Given the description of an element on the screen output the (x, y) to click on. 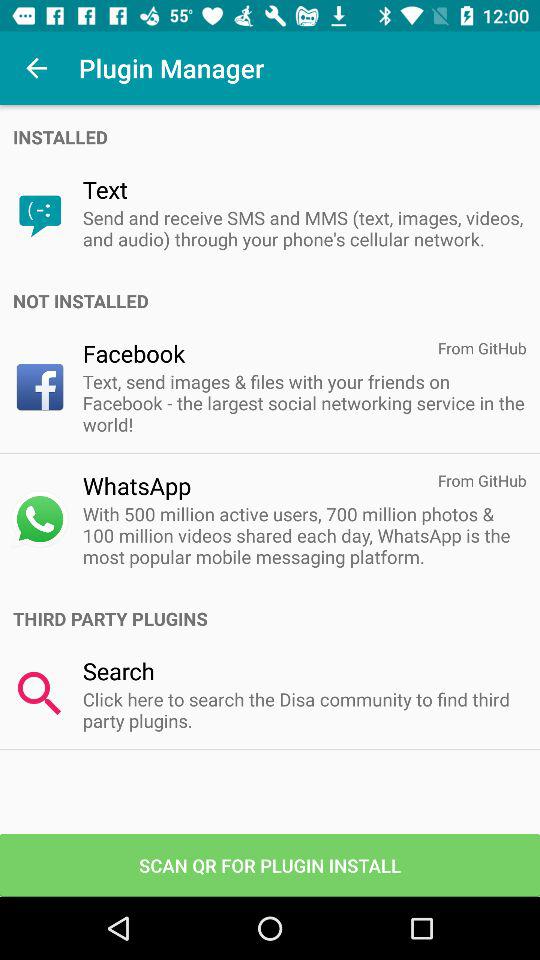
tap the app below click here to item (270, 864)
